Given the description of an element on the screen output the (x, y) to click on. 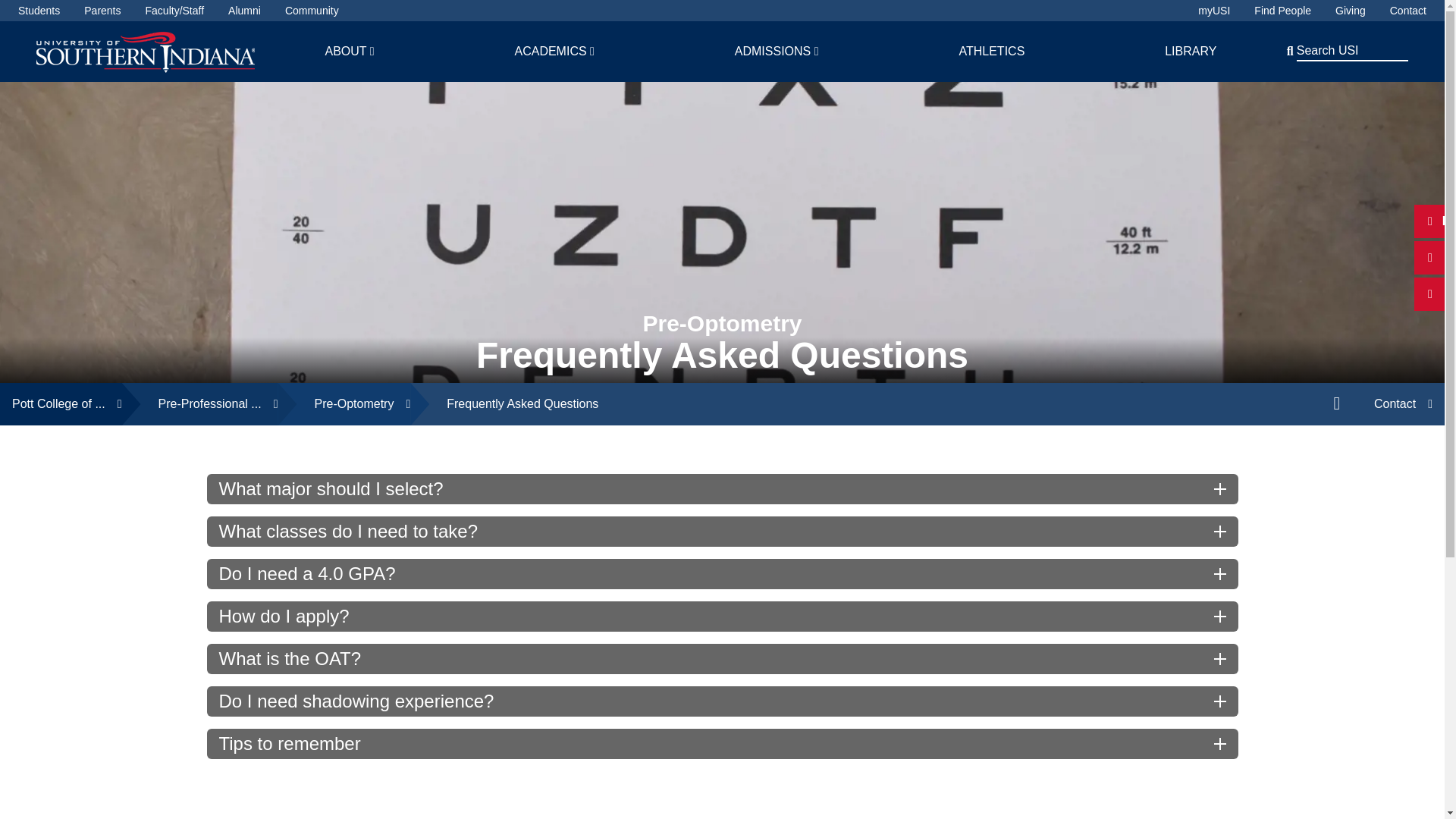
Find People (1282, 10)
Community (312, 10)
Pre-Professional Studies (200, 404)
Parents (102, 10)
Students (38, 10)
Pre-Optometry (344, 404)
University of Southern Indiana (145, 50)
Pott College of Science, Engineering, and Education (61, 404)
myUSI (1214, 10)
Alumni (244, 10)
Giving (1350, 10)
Contact (1408, 10)
